Given the description of an element on the screen output the (x, y) to click on. 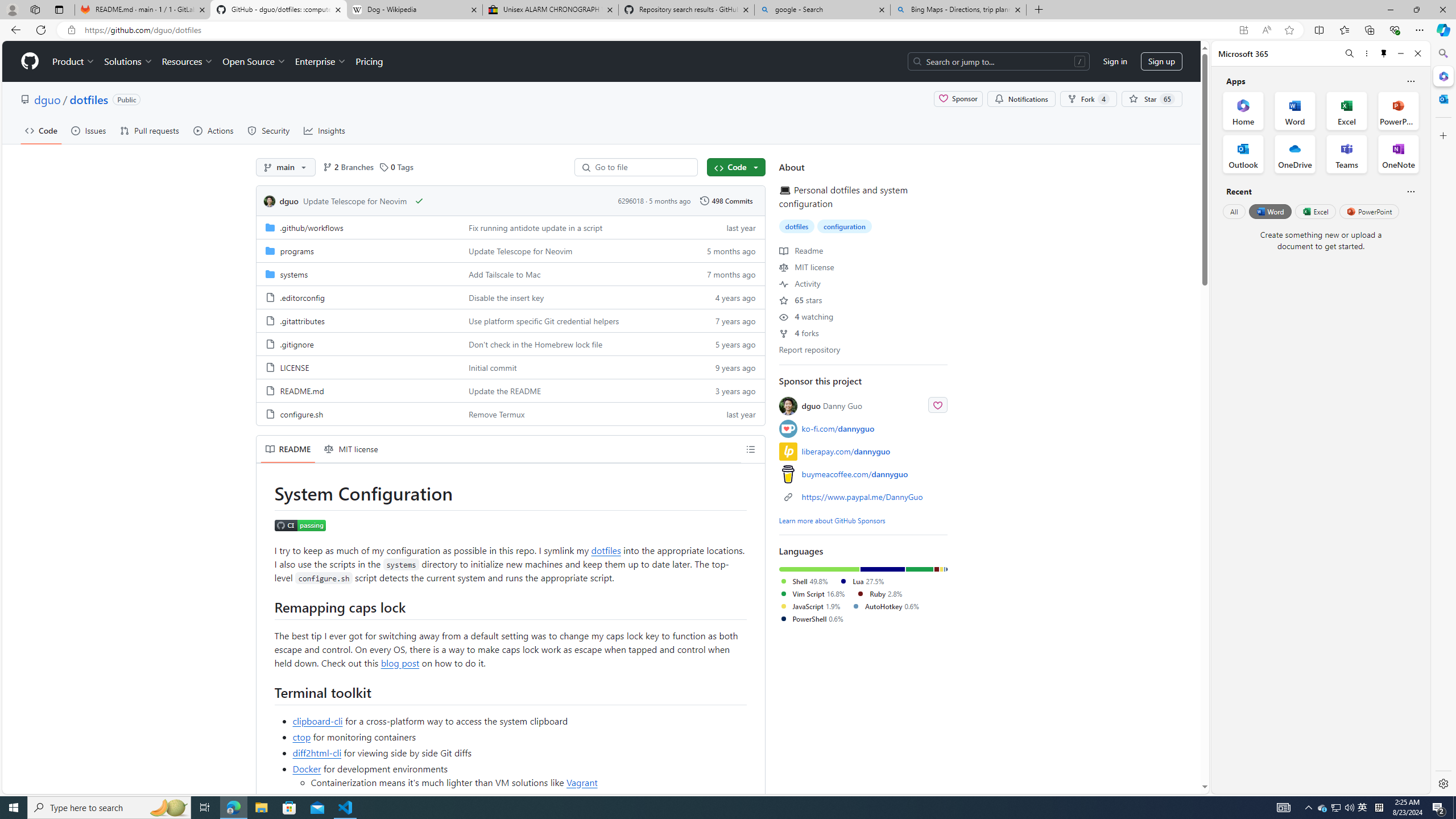
Add Tailscale to Mac (504, 274)
More options (1366, 53)
AutomationID: folder-row-4 (510, 320)
Side bar (1443, 418)
Actions (212, 130)
Issues (87, 130)
Insights (324, 130)
dguo Danny Guo (862, 405)
Don't check in the Homebrew lock file (535, 343)
AutomationID: folder-row-1 (510, 250)
Homepage (29, 61)
